Given the description of an element on the screen output the (x, y) to click on. 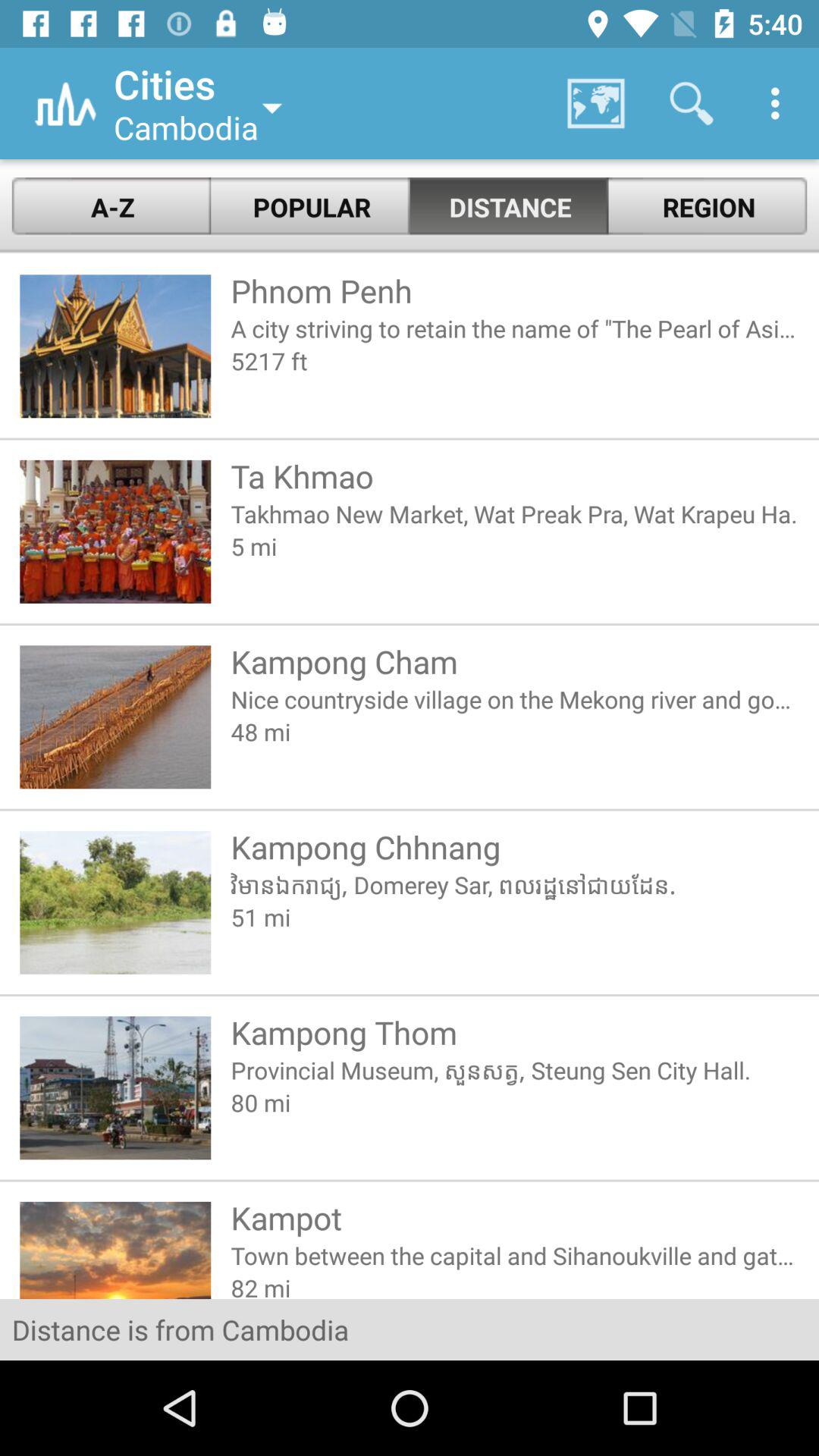
select the popular icon (310, 206)
